Given the description of an element on the screen output the (x, y) to click on. 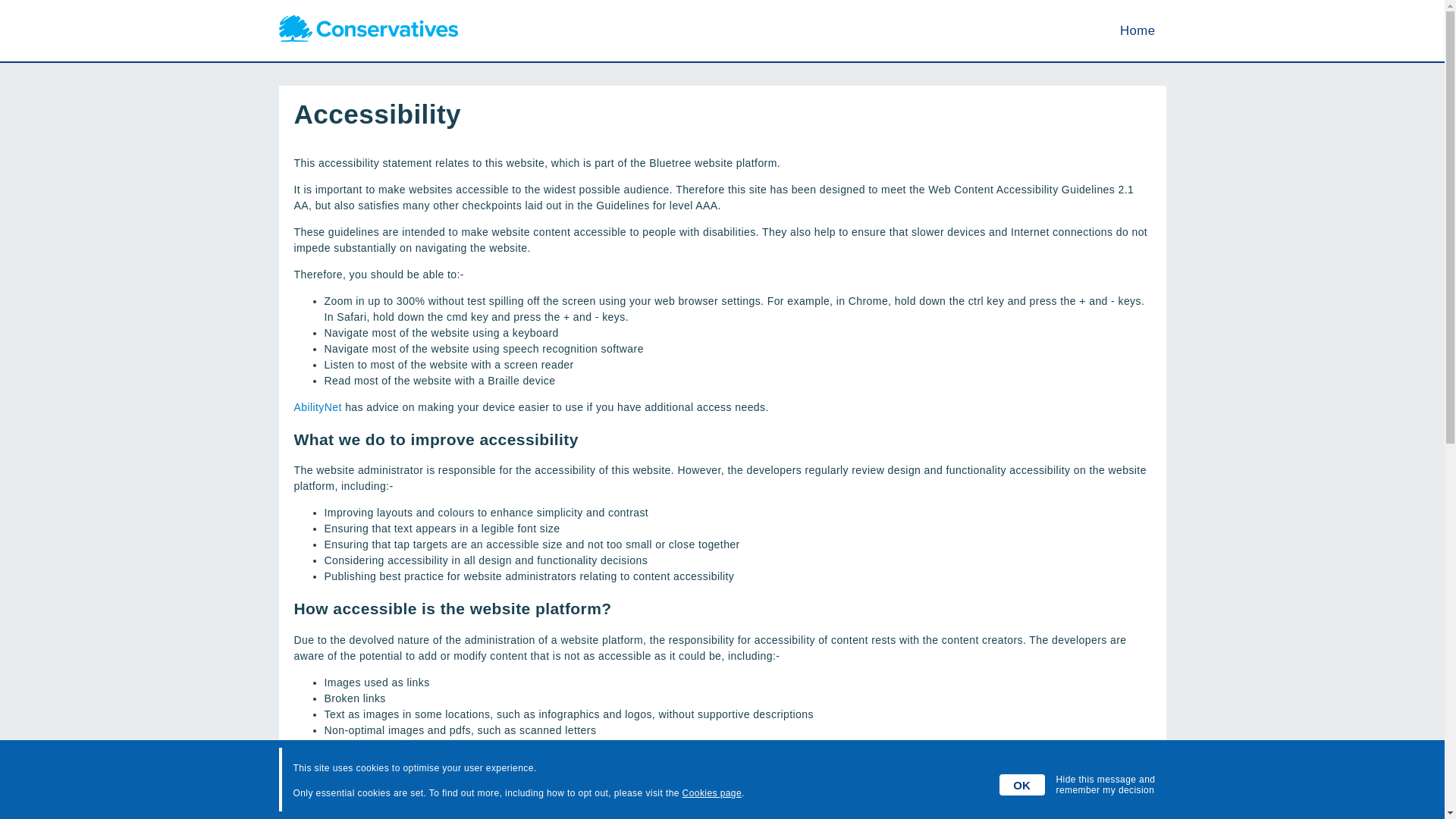
Home (1136, 30)
AbilityNet (318, 407)
Cookies page (711, 792)
OK (1021, 784)
